Given the description of an element on the screen output the (x, y) to click on. 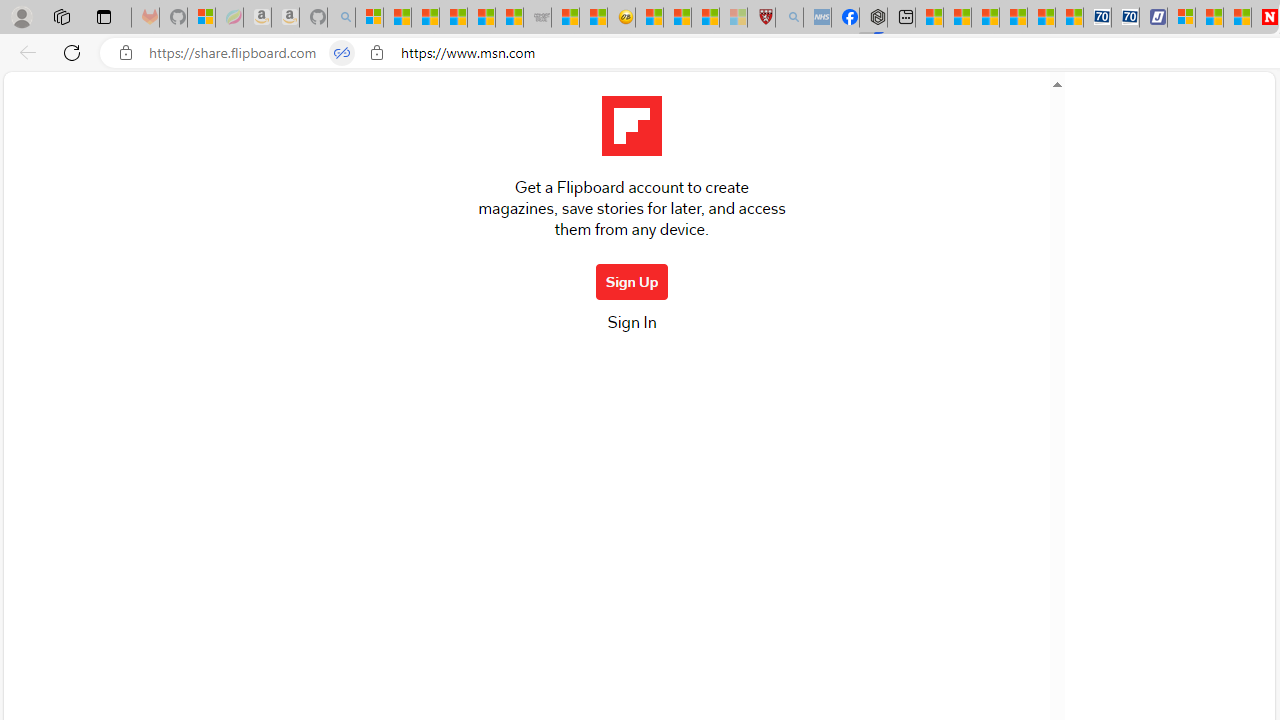
Robert H. Shmerling, MD - Harvard Health (760, 17)
Recipes - MSN (649, 17)
New Report Confirms 2023 Was Record Hot | Watch (481, 17)
12 Popular Science Lies that Must be Corrected - Sleeping (733, 17)
Stocks - MSN (509, 17)
Science - MSN (705, 17)
